Given the description of an element on the screen output the (x, y) to click on. 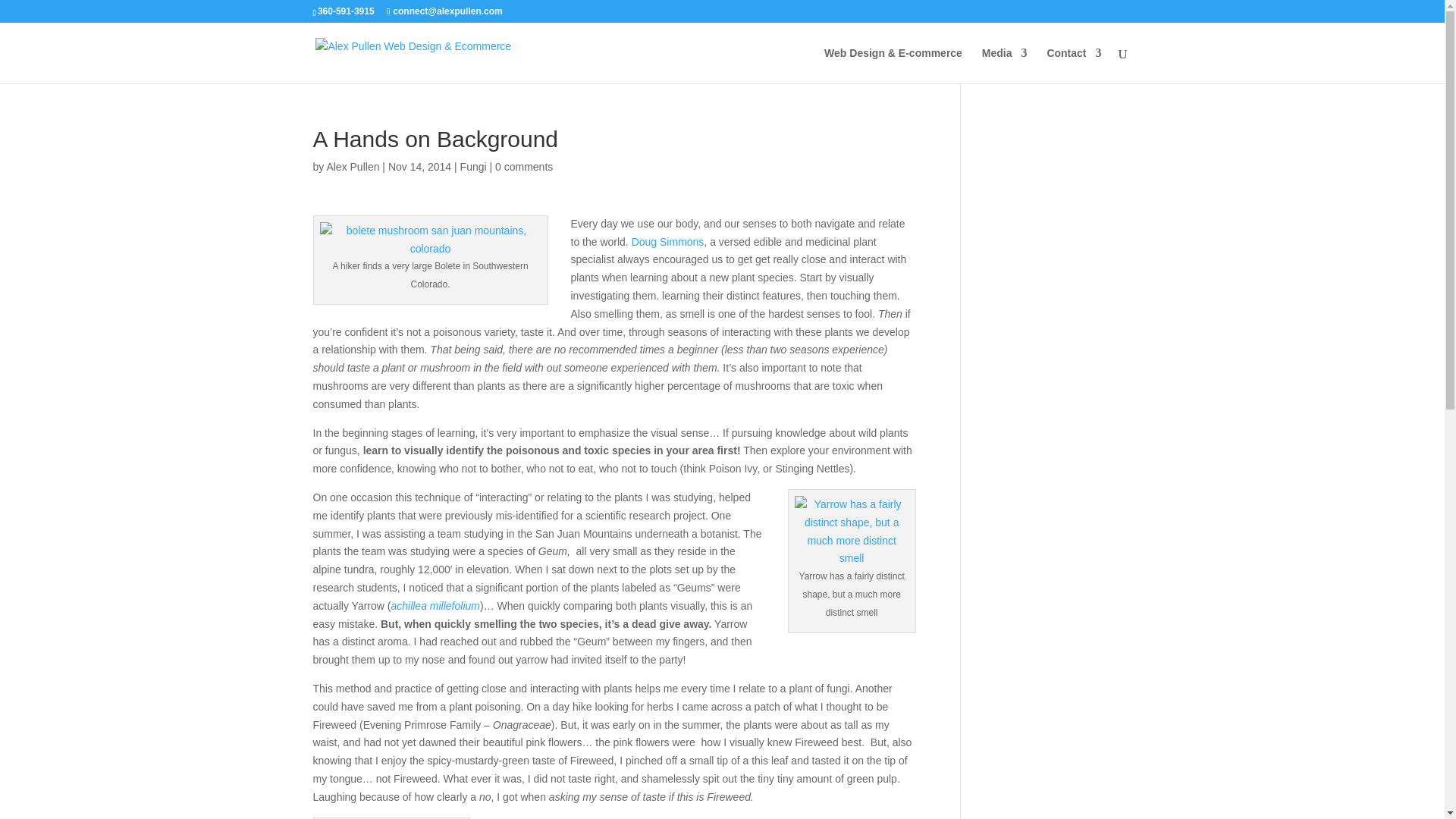
Contact (1073, 65)
Alex Pullen (352, 166)
Posts by Alex Pullen (352, 166)
achillea millefolium (435, 605)
Fungi (473, 166)
Doug Simmons (667, 241)
0 comments (524, 166)
Media (1004, 65)
